Given the description of an element on the screen output the (x, y) to click on. 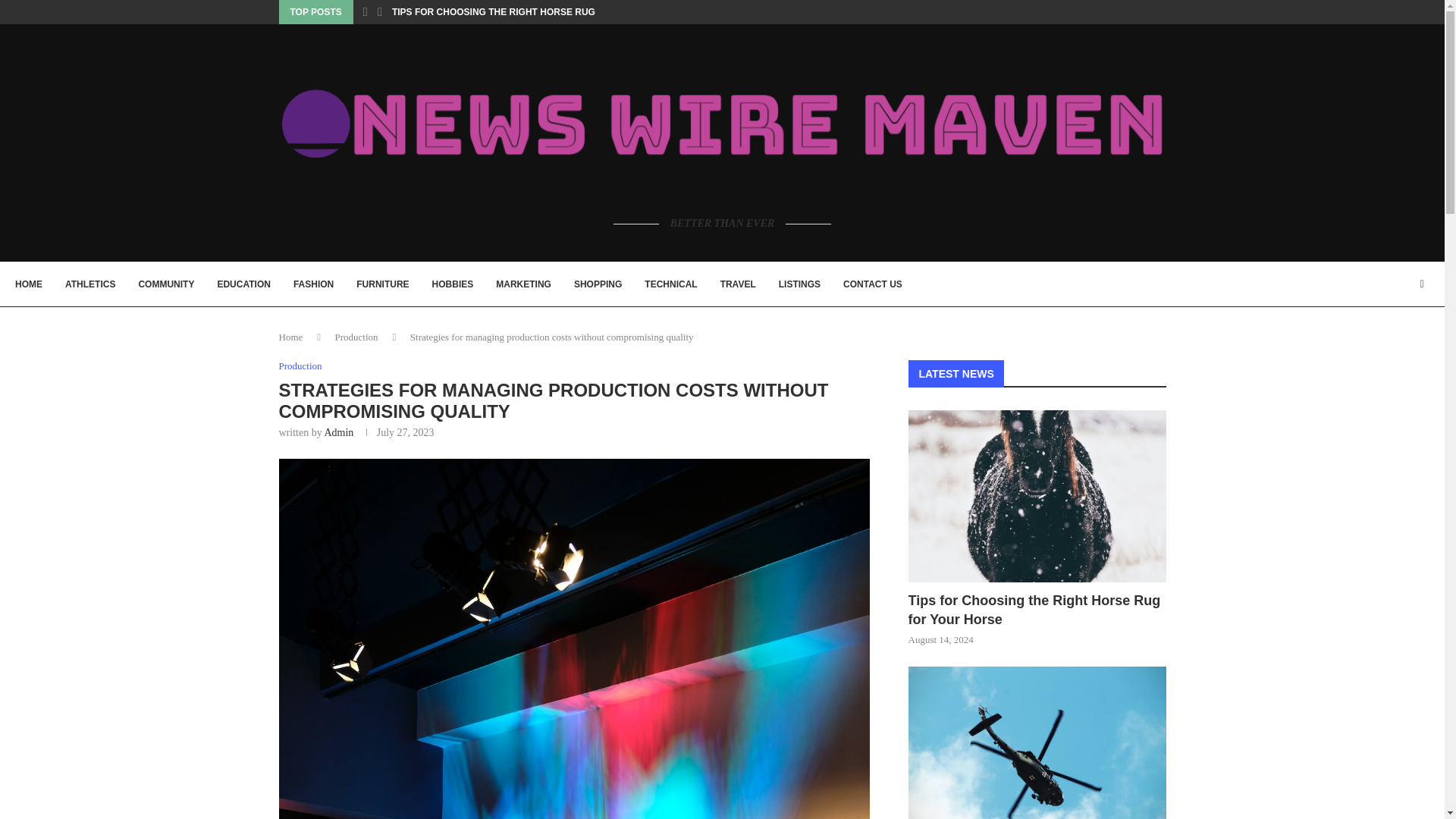
TECHNICAL (671, 284)
COMMUNITY (165, 284)
Home (290, 337)
ATHLETICS (90, 284)
Tips for Choosing the Right Horse Rug for Your Horse (1037, 610)
EDUCATION (242, 284)
CONTACT US (872, 284)
LISTINGS (799, 284)
Production (300, 366)
